Given the description of an element on the screen output the (x, y) to click on. 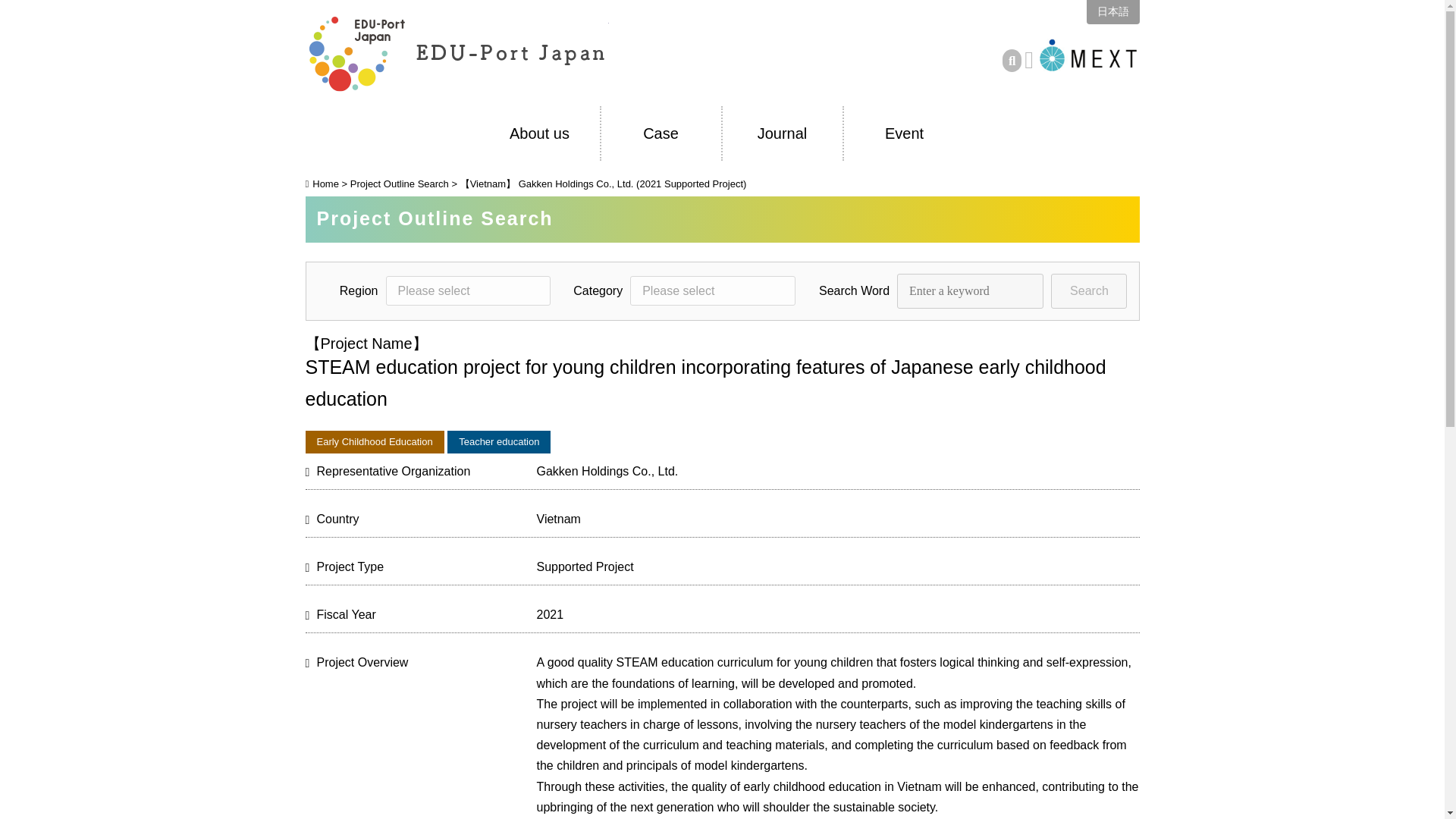
Home (320, 183)
Go to Project Outline Search. (399, 183)
EVENTS (903, 133)
About us (538, 133)
Search (1088, 290)
Journal (781, 133)
CASE (659, 133)
Go to EDU-Port Japan. (320, 183)
EDU-Port Japan (456, 52)
JOURNAL (781, 133)
Search (1088, 290)
Early Childhood Education (374, 441)
ABOUT (538, 133)
Case (659, 133)
Project Outline Search (399, 183)
